Given the description of an element on the screen output the (x, y) to click on. 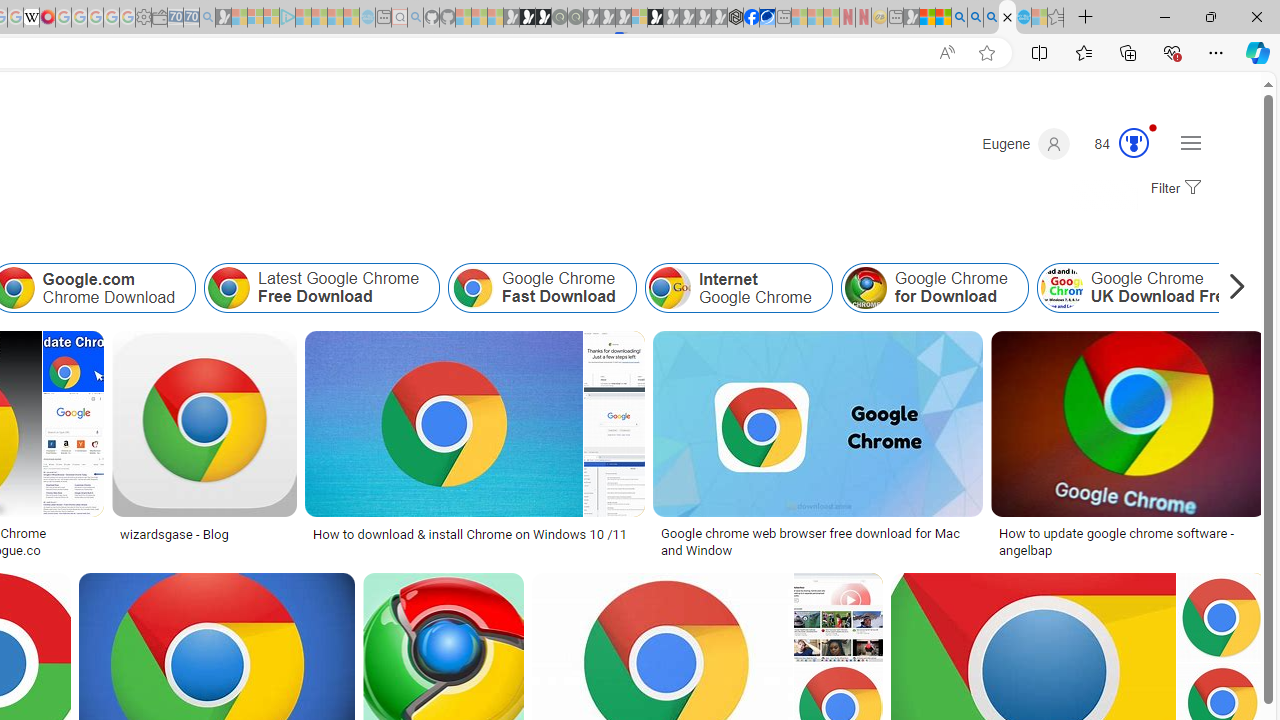
Internet Google Chrome (669, 287)
Scroll right (1231, 287)
Target page - Wikipedia (31, 17)
2009 Bing officially replaced Live Search on June 3 - Search (975, 17)
Microsoft account | Privacy - Sleeping (271, 17)
Nordace - Cooler Bags (735, 17)
Google Chrome UK Download Free (1145, 287)
Eugene (1026, 143)
